Given the description of an element on the screen output the (x, y) to click on. 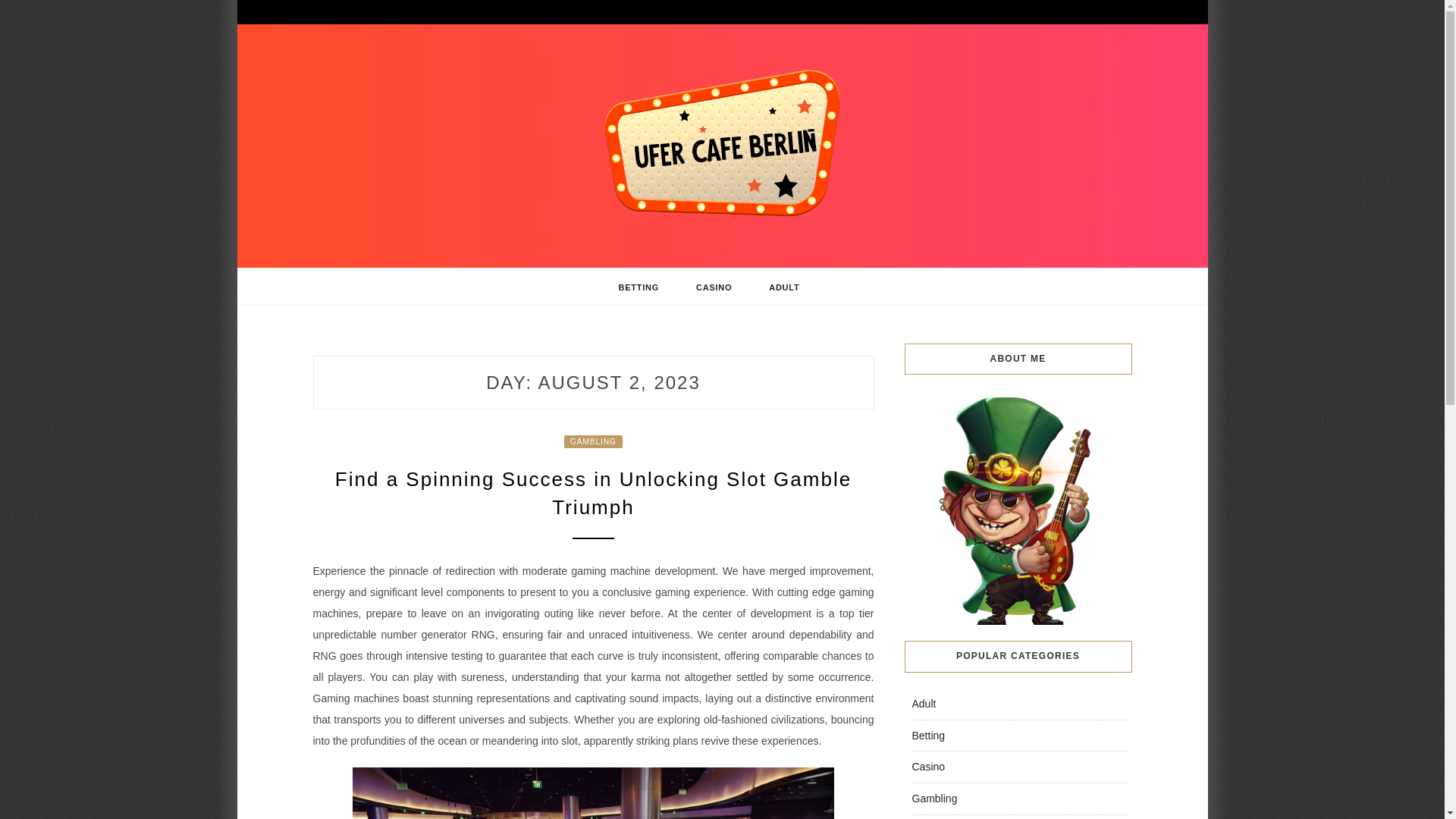
CASINO (714, 287)
UFER CAFE BERLIN (468, 261)
Casino (927, 766)
Adult (923, 703)
GAMBLING (593, 440)
BETTING (638, 287)
Gambling (933, 798)
Betting (927, 735)
Find a Spinning Success in Unlocking Slot Gamble Triumph (592, 492)
ADULT (784, 287)
